Given the description of an element on the screen output the (x, y) to click on. 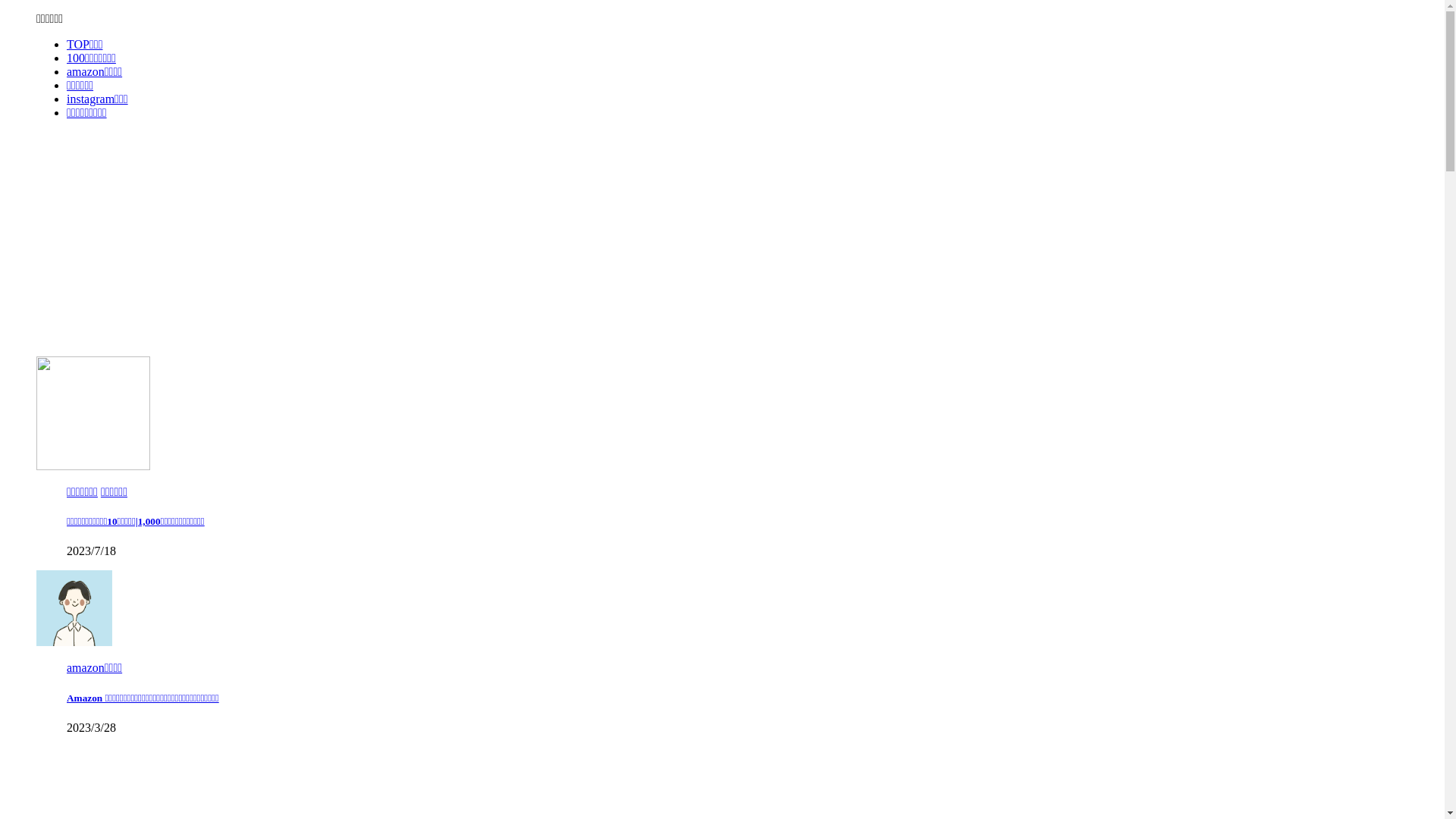
no image Element type: hover (74, 608)
